Given the description of an element on the screen output the (x, y) to click on. 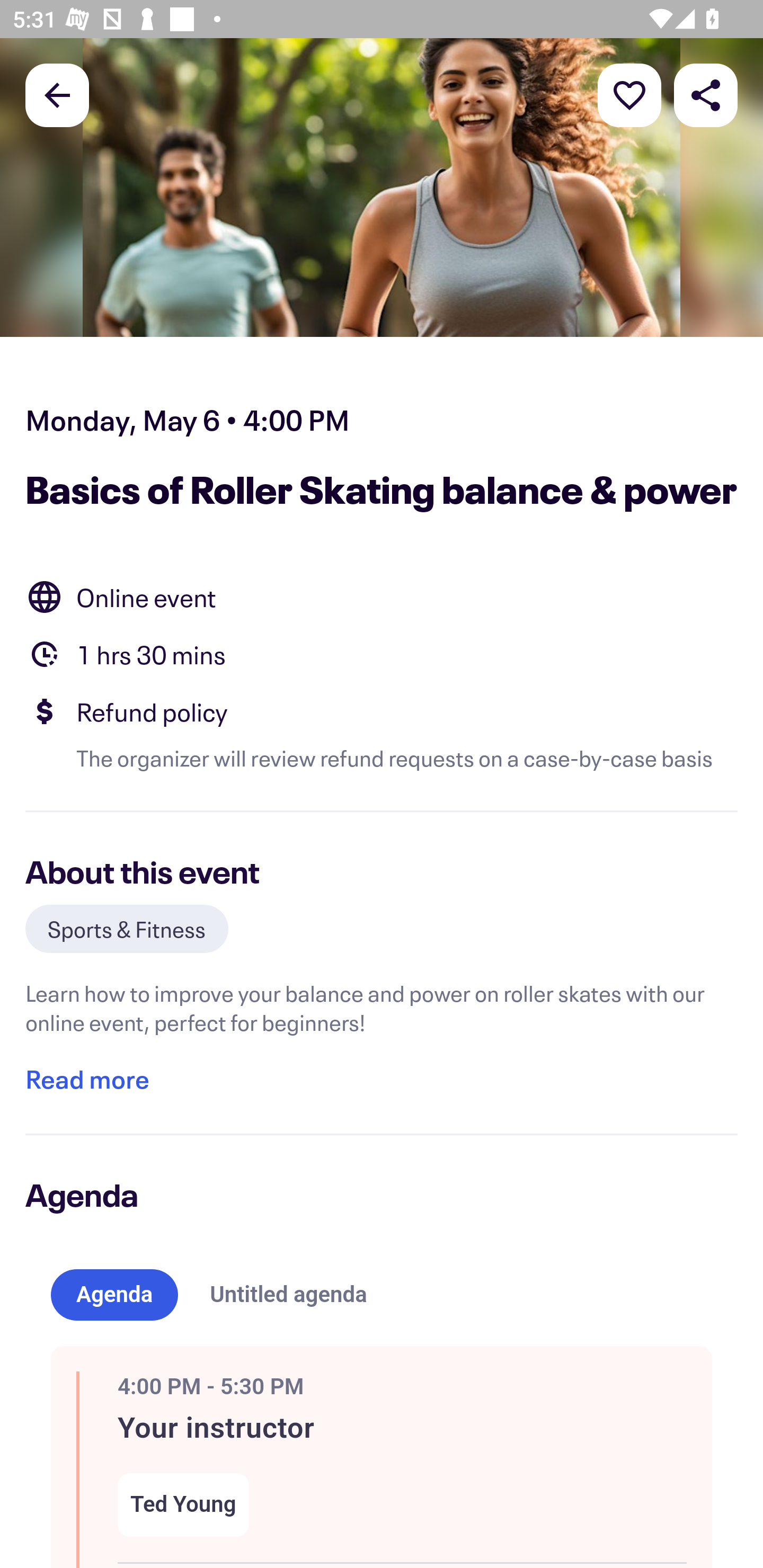
Back (57, 94)
More (629, 94)
Share (705, 94)
Location Online event (381, 596)
Read more (87, 1078)
